Given the description of an element on the screen output the (x, y) to click on. 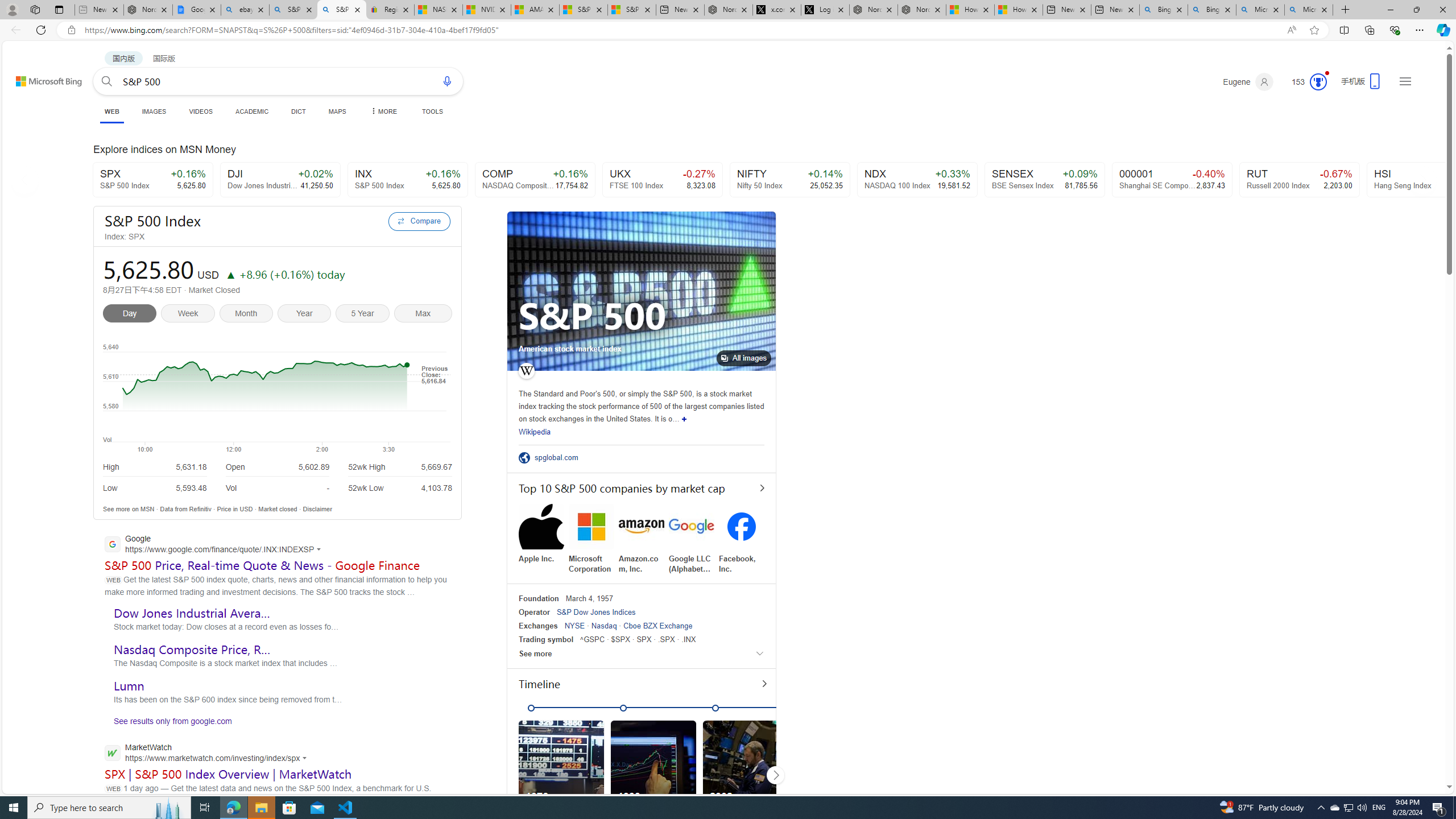
Facebook, Inc. (741, 538)
Day (132, 314)
NIFTY +0.14% Nifty 50 Index 25,052.35 (790, 179)
Max (422, 314)
Compare (418, 220)
RUT-0.67%Russell 2000 Index2,203.00 (1299, 179)
ACADEMIC (252, 111)
Address and search bar (680, 29)
Class: medal-circled (1317, 81)
ebay - Search (244, 9)
SPX | S&P 500 Index Overview | MarketWatch (228, 773)
